Given the description of an element on the screen output the (x, y) to click on. 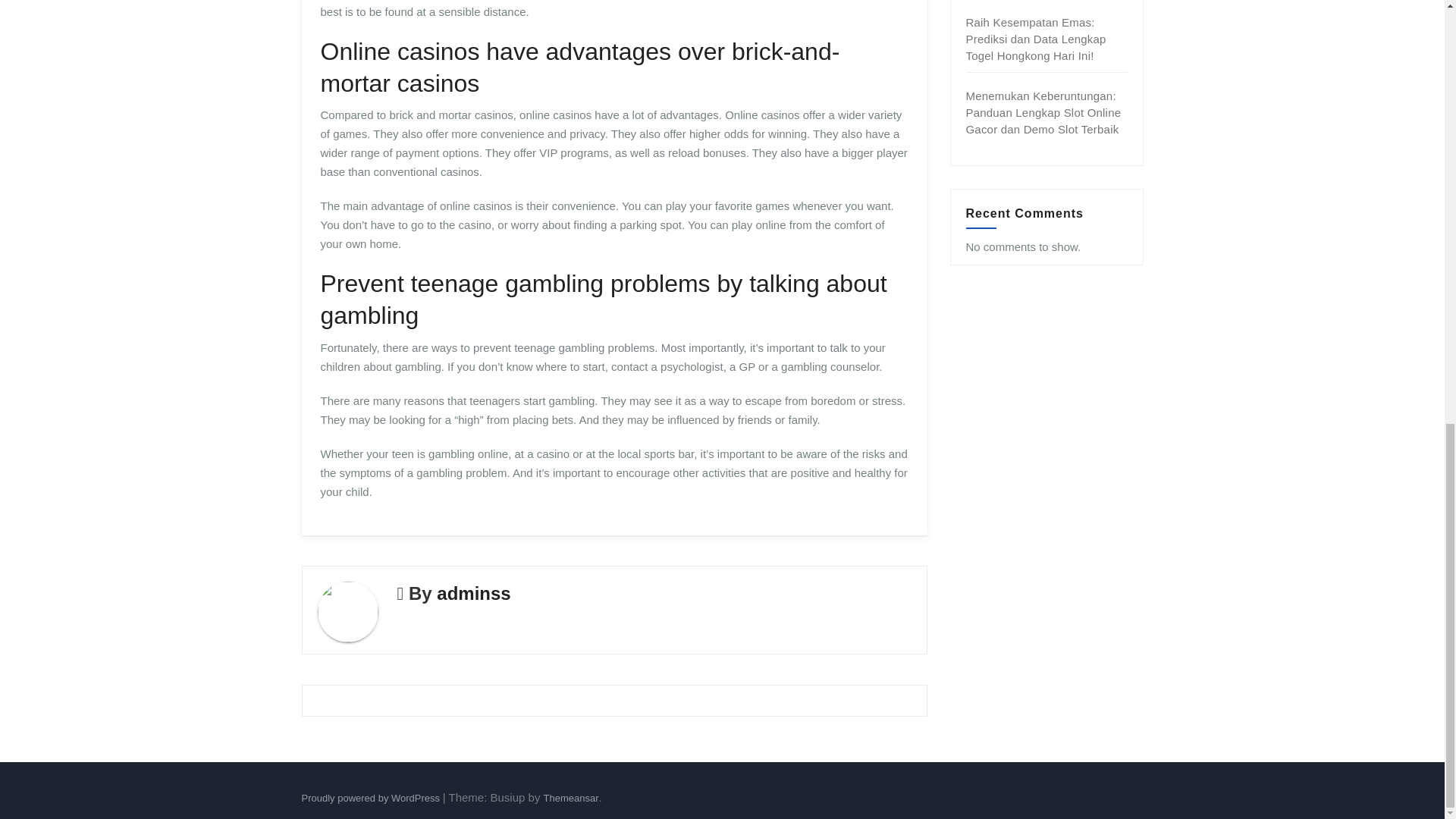
adminss (473, 593)
Themeansar (570, 797)
Proudly powered by WordPress (371, 797)
